Given the description of an element on the screen output the (x, y) to click on. 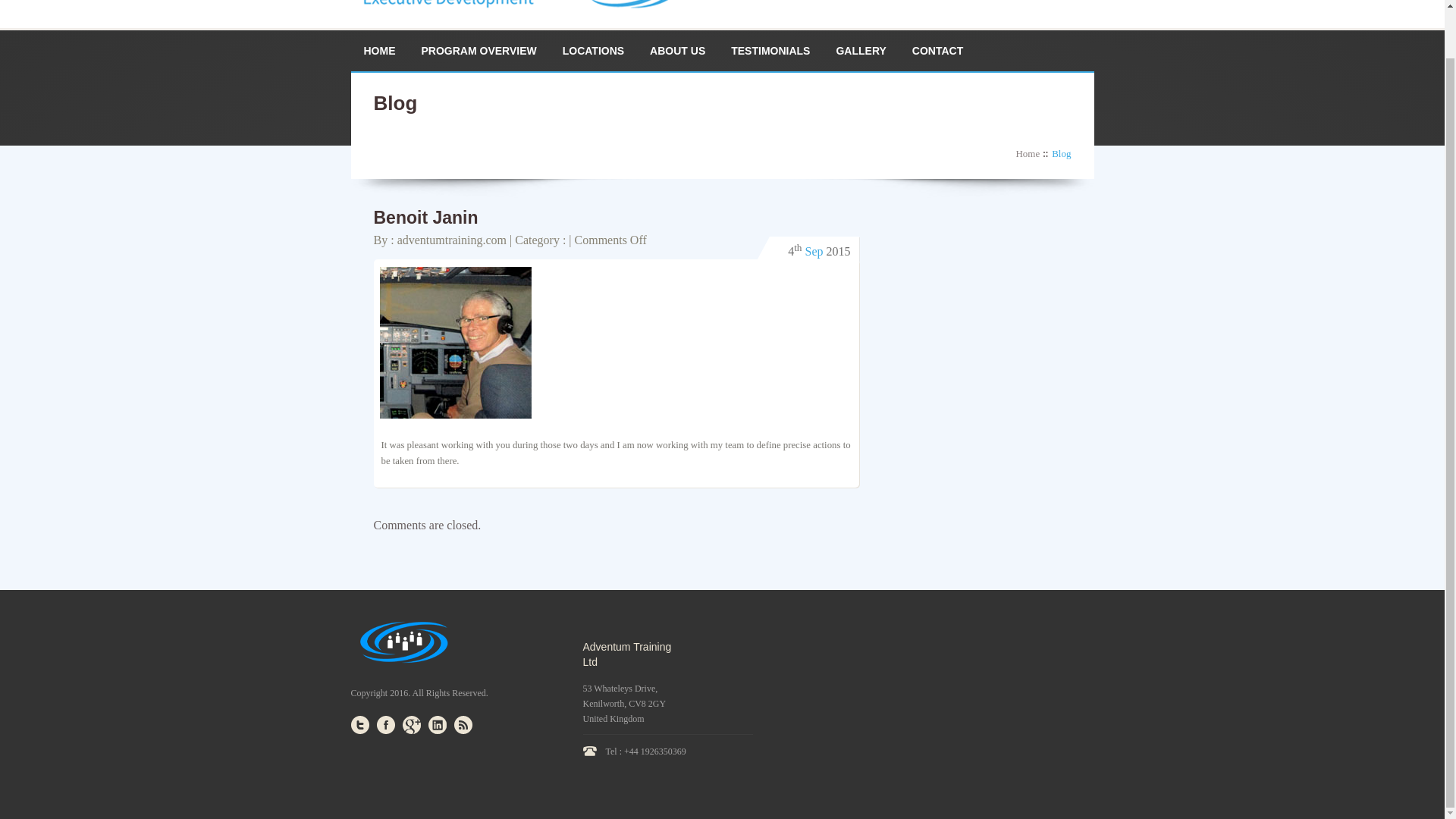
TESTIMONIALS (769, 50)
Posts by adventumtraining.com (451, 239)
adventumtraining.com (451, 239)
LOCATIONS (593, 50)
CONTACT (937, 50)
GALLERY (860, 50)
ABOUT US (677, 50)
PROGRAM OVERVIEW (477, 50)
HOME (378, 50)
Home (1031, 153)
Benoit Janin (424, 217)
